Given the description of an element on the screen output the (x, y) to click on. 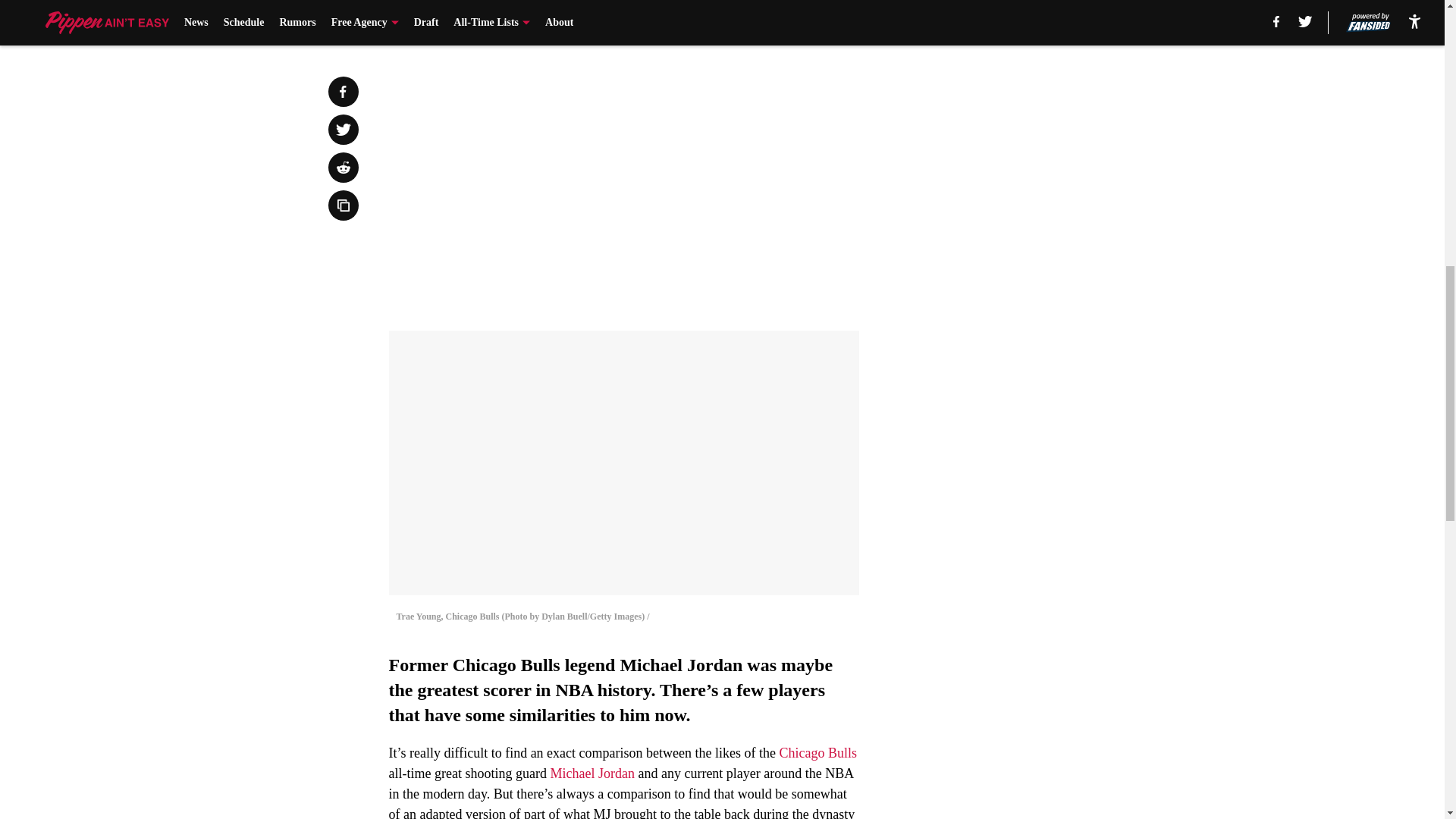
Next (813, 20)
Michael Jordan (591, 773)
Prev (433, 20)
Chicago Bulls (817, 752)
